Given the description of an element on the screen output the (x, y) to click on. 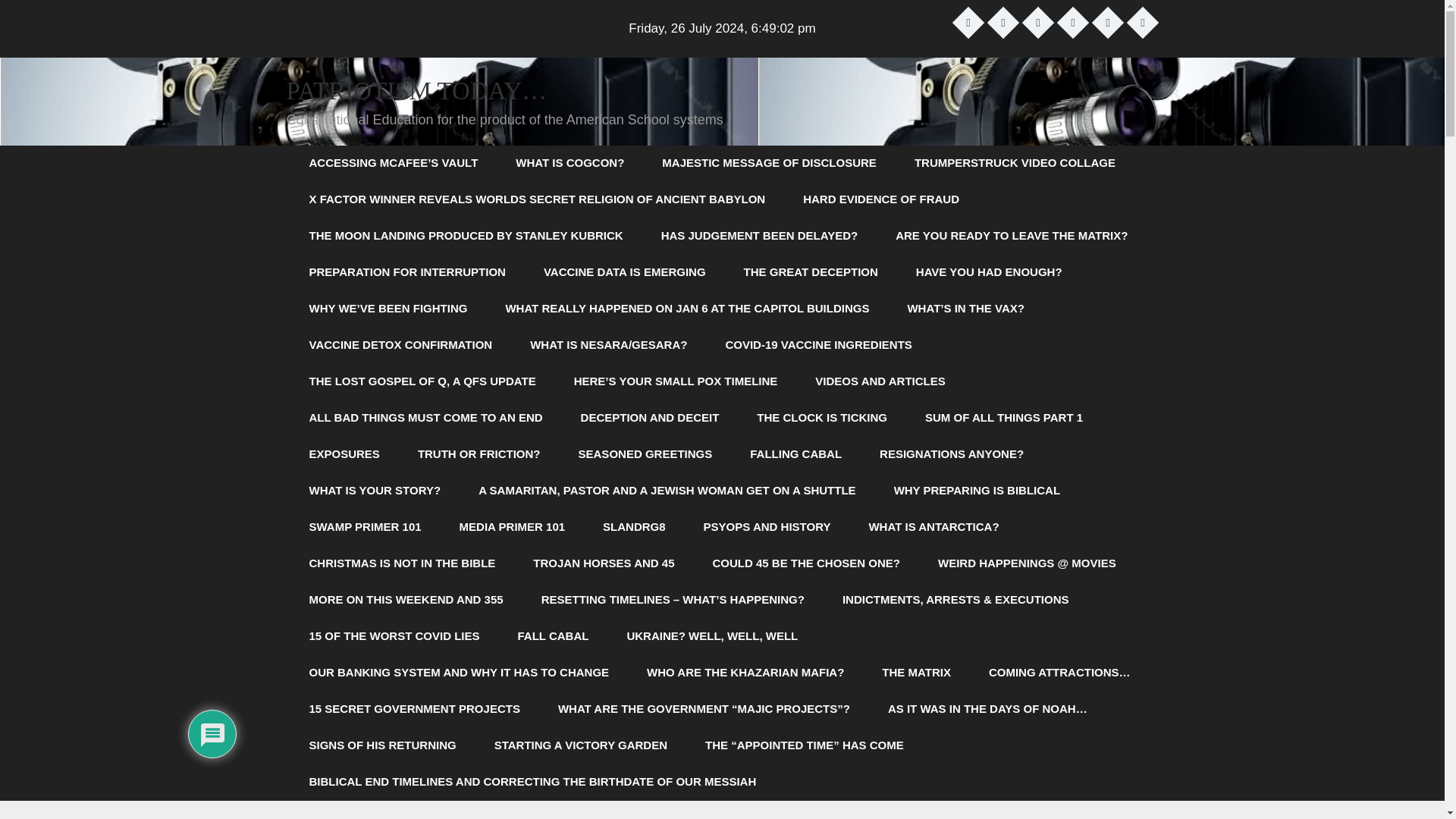
THE GREAT DECEPTION (810, 271)
MAJESTIC MESSAGE OF DISCLOSURE (769, 162)
COVID-19 VACCINE INGREDIENTS (818, 344)
VACCINE DATA IS EMERGING (624, 271)
HARD EVIDENCE OF FRAUD (881, 198)
SEASONED GREETINGS (645, 453)
HAVE YOU HAD ENOUGH? (988, 271)
HAS JUDGEMENT BEEN DELAYED? (759, 235)
THE CLOCK IS TICKING (821, 417)
WHAT IS COGCON? (569, 162)
TRUMPERSTRUCK VIDEO COLLAGE (1014, 162)
VIDEOS AND ARTICLES (879, 380)
TRUTH OR FRICTION? (478, 453)
ALL BAD THINGS MUST COME TO AN END (424, 417)
